Given the description of an element on the screen output the (x, y) to click on. 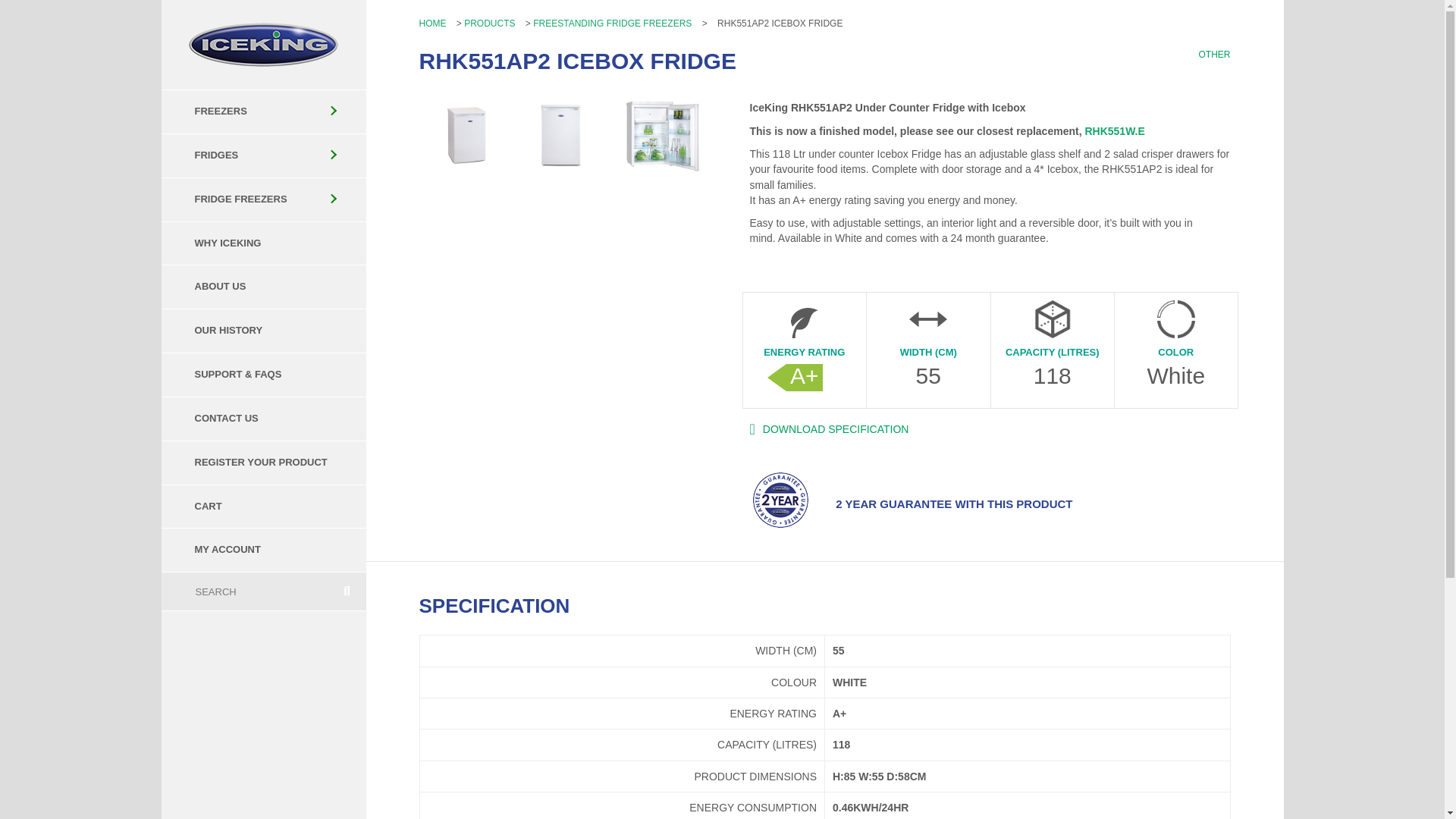
FRIDGE FREEZERS (262, 199)
2year (779, 499)
OUR HISTORY (262, 330)
MY ACCOUNT (262, 550)
ABOUT US (262, 286)
FREEZERS (262, 111)
CART (262, 506)
REGISTER YOUR PRODUCT (262, 462)
iceking (263, 44)
CONTACT US (262, 418)
FRIDGES (262, 155)
WHY ICEKING (262, 243)
Search (243, 591)
